Given the description of an element on the screen output the (x, y) to click on. 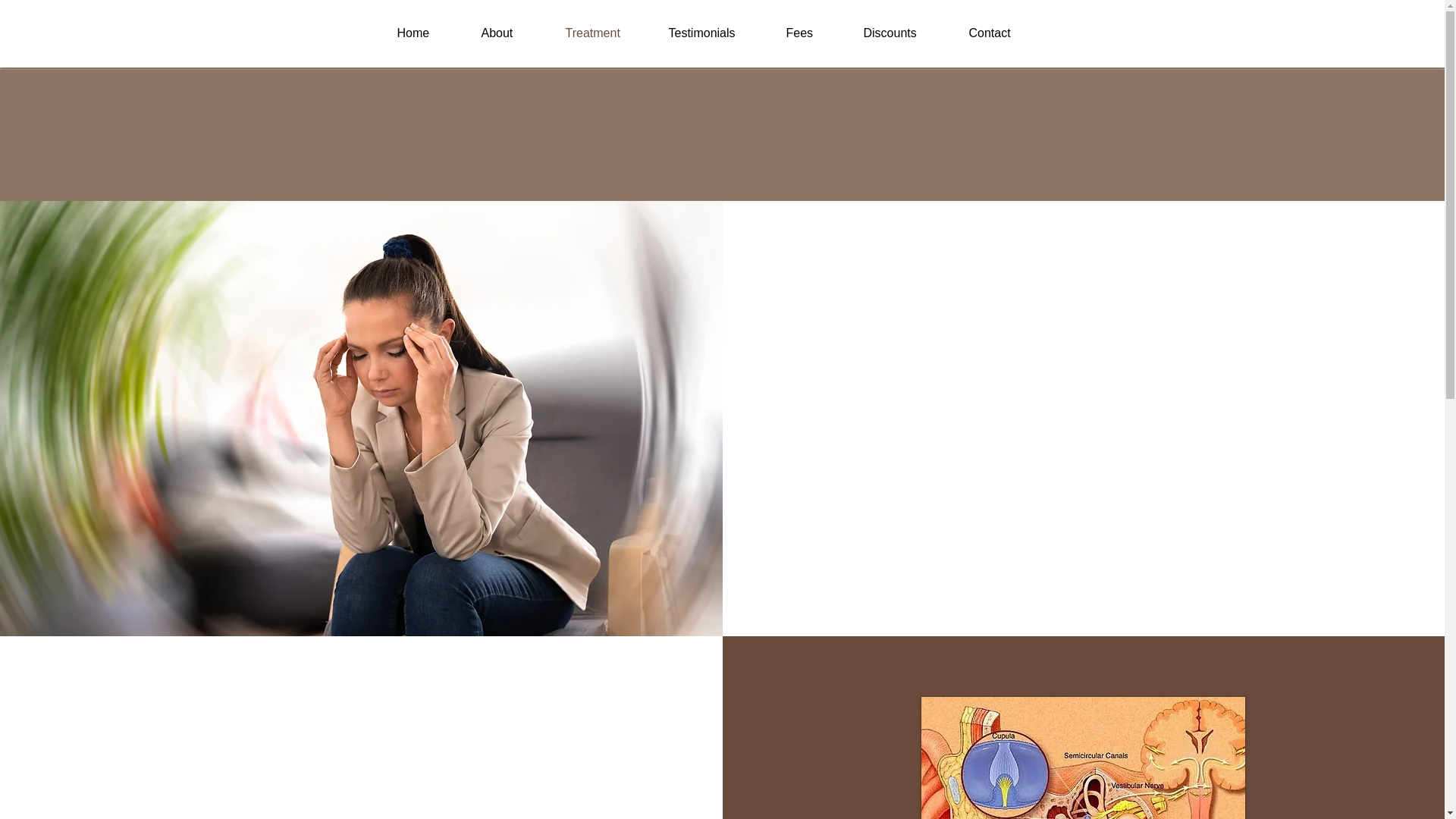
Discounts (908, 32)
vestibular image.jpg (1082, 757)
Treatment (609, 32)
Contact (1007, 32)
Home (432, 32)
Testimonials (719, 32)
About (515, 32)
Fees (816, 32)
